Given the description of an element on the screen output the (x, y) to click on. 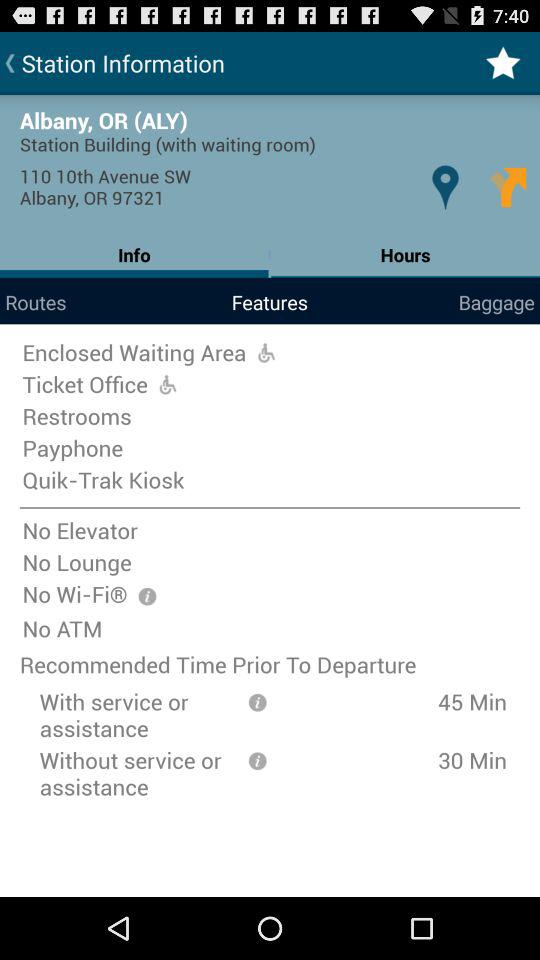
important to know (147, 596)
